Given the description of an element on the screen output the (x, y) to click on. 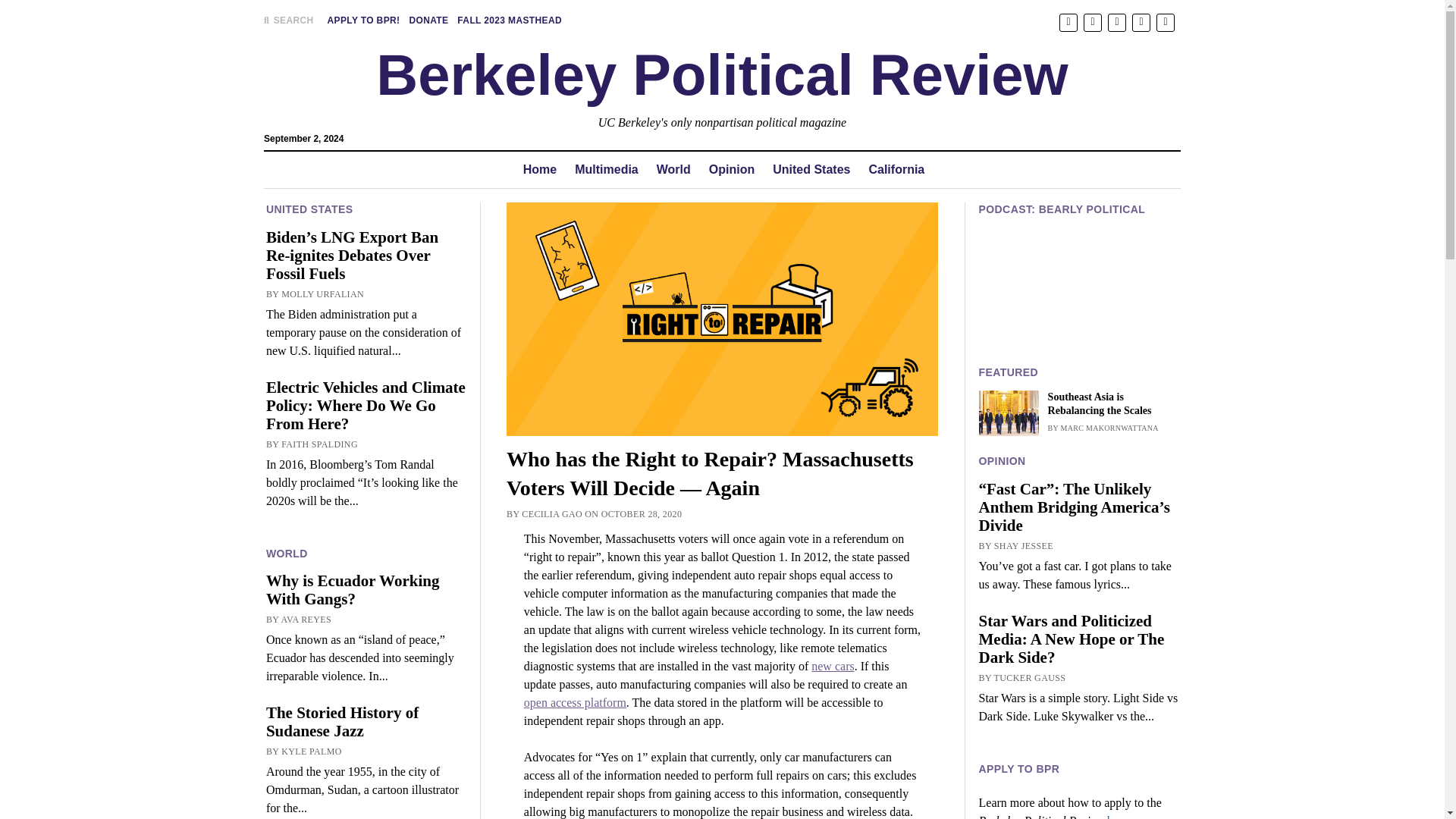
SEARCH (288, 20)
United States (810, 169)
new cars (831, 666)
FALL 2023 MASTHEAD (509, 20)
Multimedia (606, 169)
APPLY TO BPR! (363, 20)
Opinion (731, 169)
Home (539, 169)
The Storied History of Sudanese Jazz (365, 721)
